Given the description of an element on the screen output the (x, y) to click on. 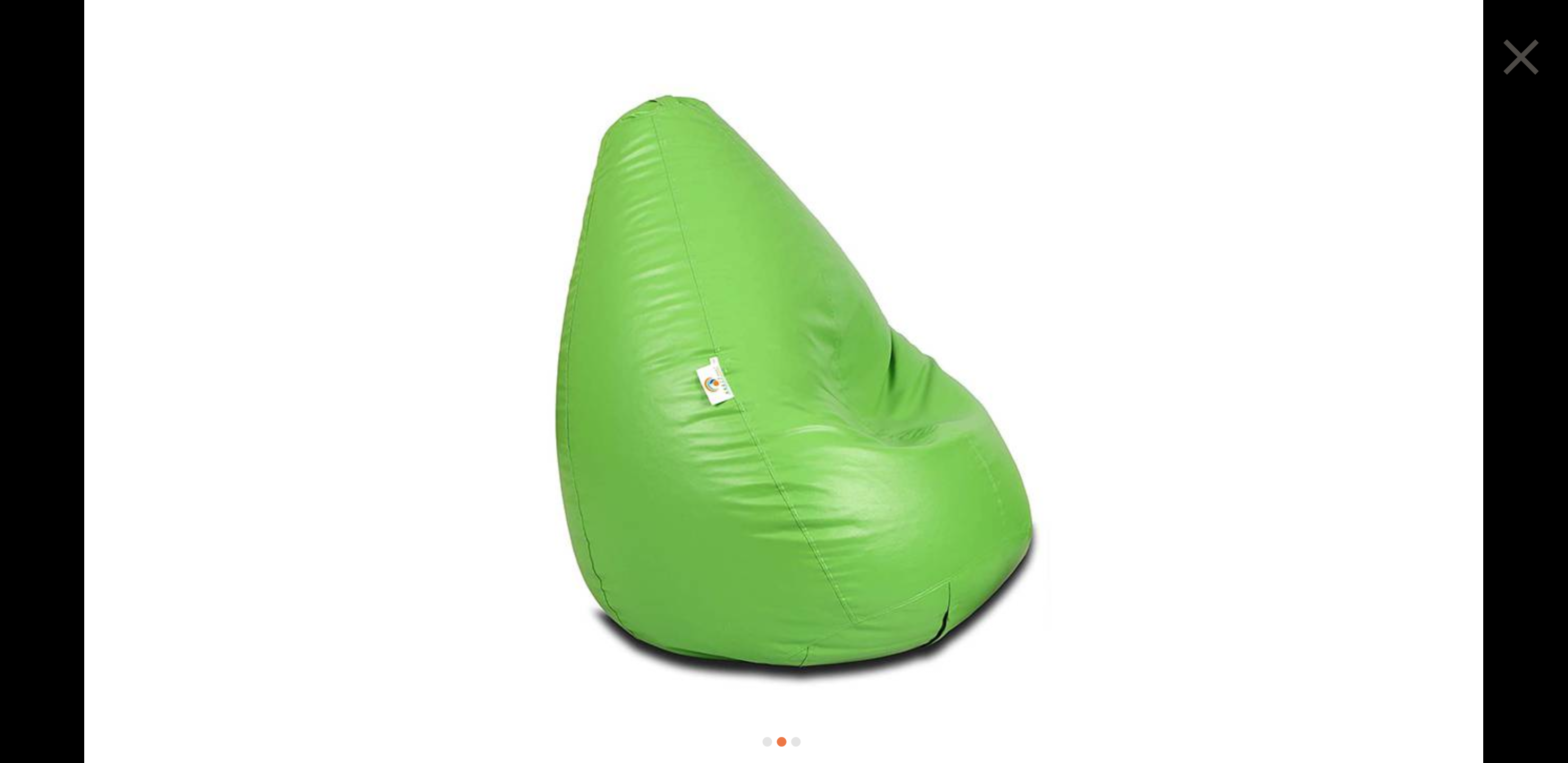
 (1520, 55)
